Given the description of an element on the screen output the (x, y) to click on. 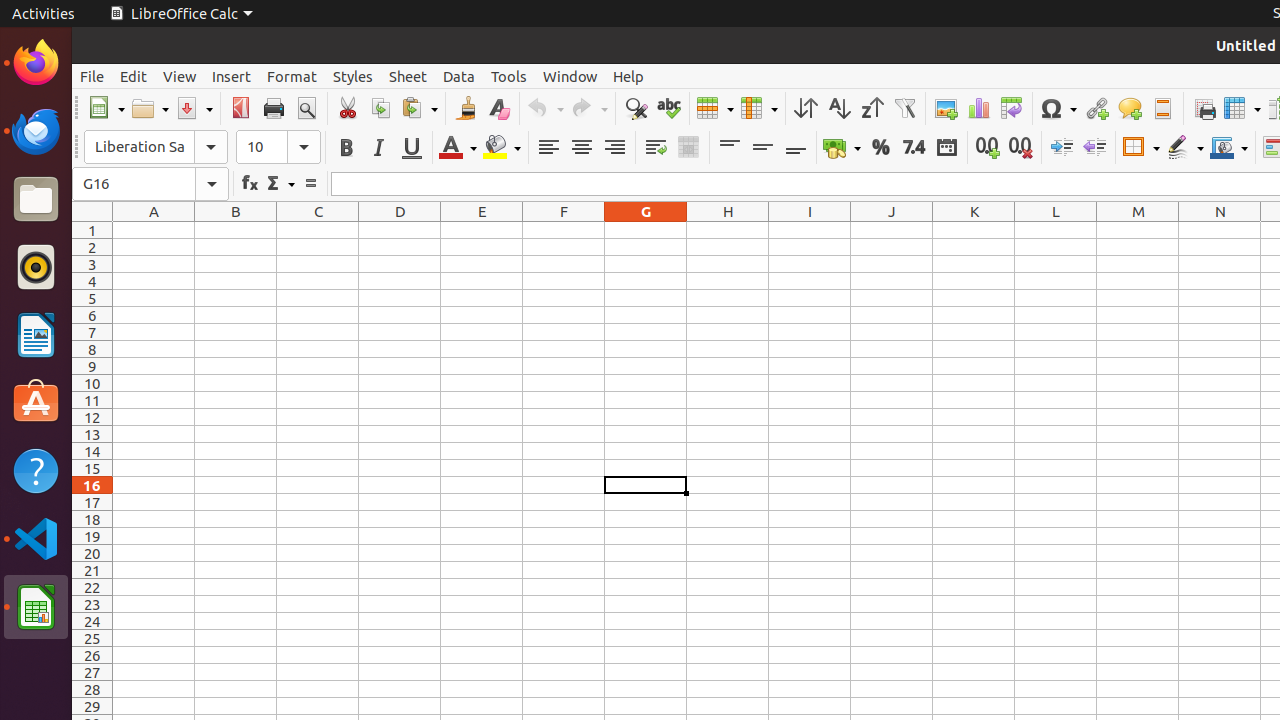
Cut Element type: push-button (347, 108)
Print Element type: push-button (273, 108)
Clone Element type: push-button (465, 108)
Chart Element type: push-button (978, 108)
Font Size Element type: combo-box (278, 147)
